Given the description of an element on the screen output the (x, y) to click on. 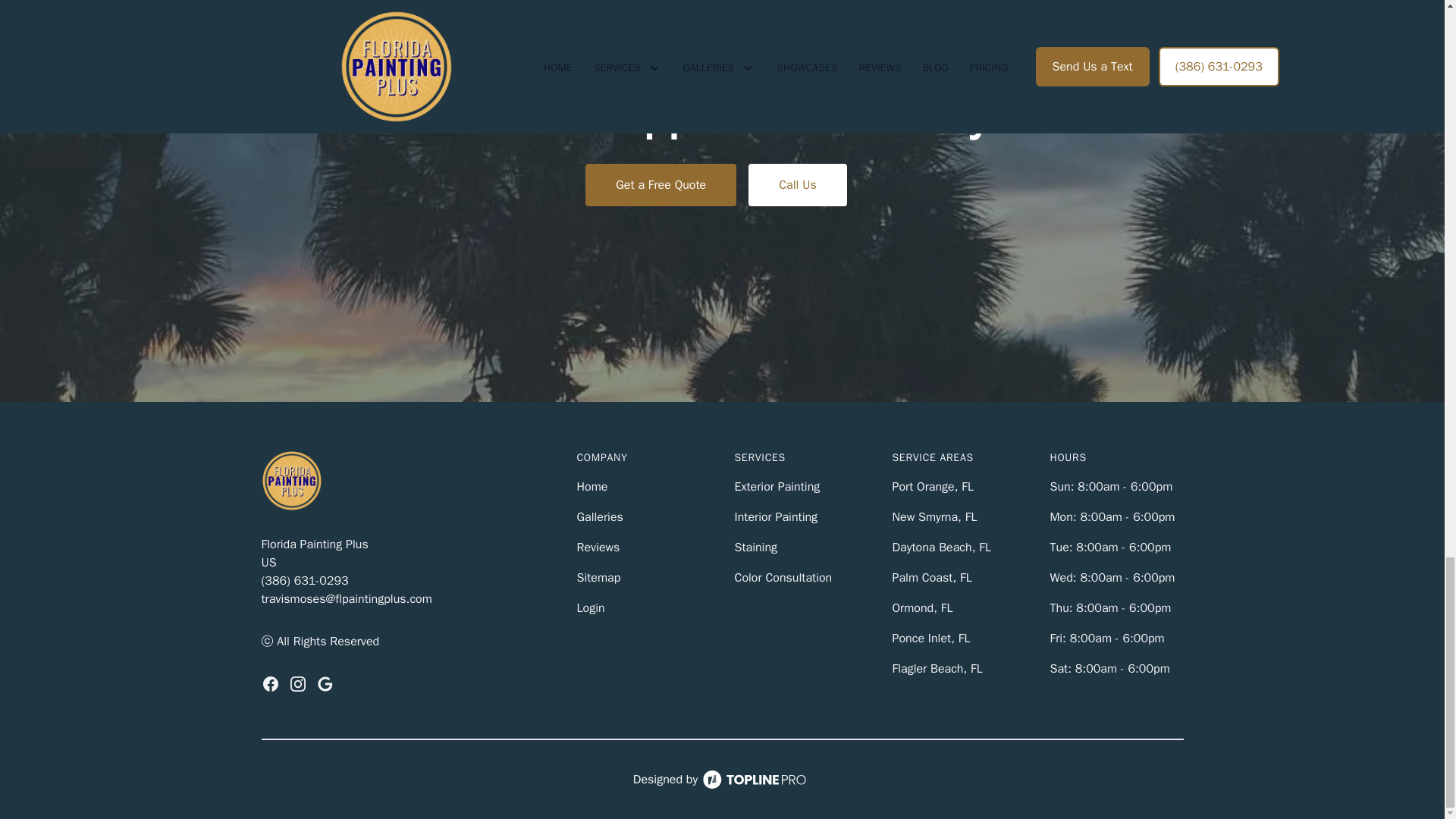
Reviews (598, 547)
Instagram (296, 683)
Staining (755, 547)
Exterior Painting (776, 486)
Home (591, 486)
Interior Painting (774, 516)
Google (324, 683)
Galleries (599, 516)
Call Us (797, 184)
Login (590, 607)
Get a Free Quote (660, 184)
Color Consultation (782, 577)
Sitemap (598, 577)
Designed by (721, 779)
Facebook (269, 683)
